Given the description of an element on the screen output the (x, y) to click on. 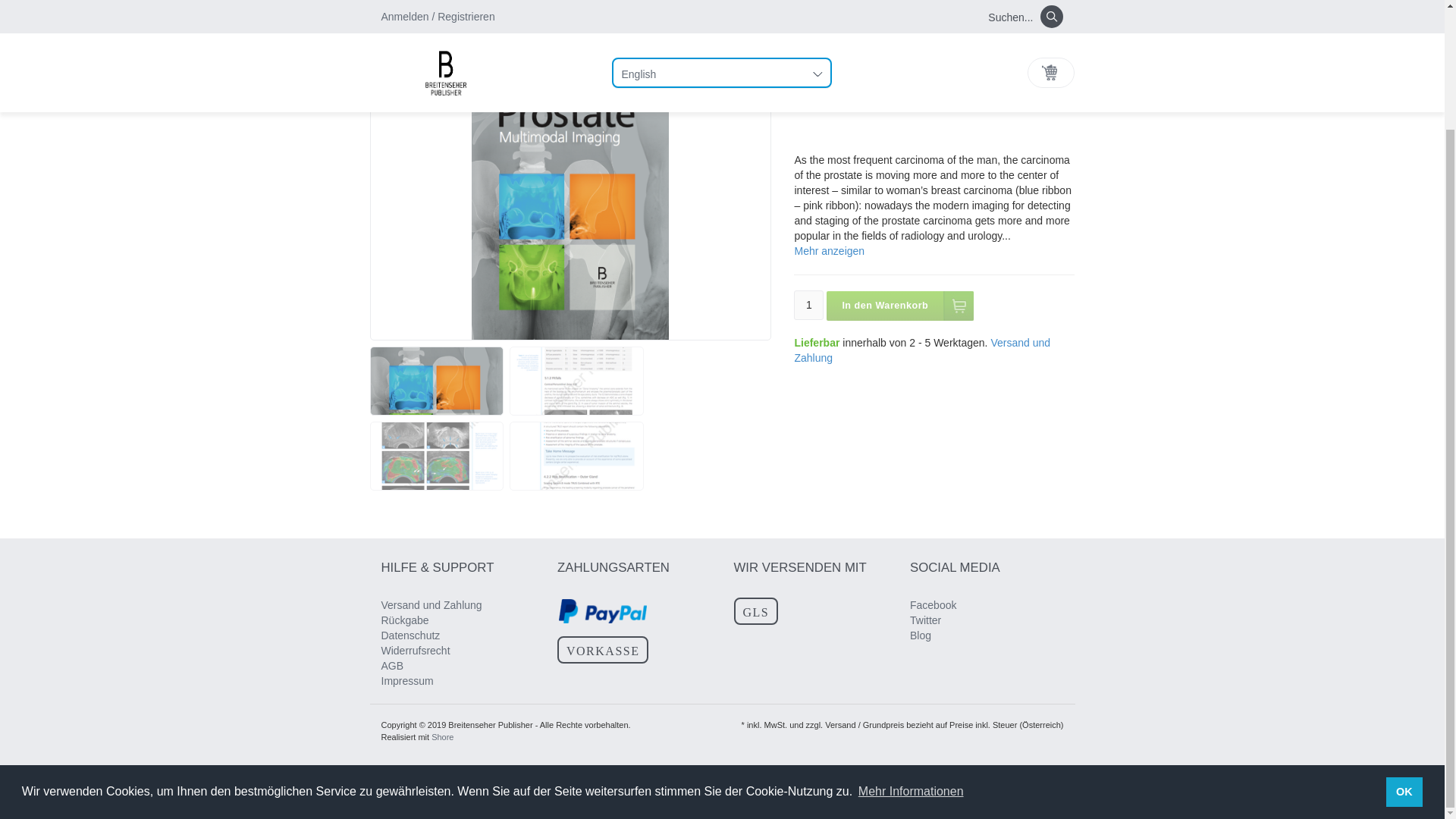
Datenschutz (409, 635)
Blog (920, 635)
Mehr anzeigen (828, 250)
OK (1404, 648)
Impressum (406, 680)
Facebook (933, 604)
Mehr Informationen (911, 649)
Twitter (925, 620)
Versand und Zahlung (430, 604)
In den Warenkorb (900, 306)
1 (808, 304)
AGB (391, 665)
Widerrufsrecht (414, 650)
Shore (441, 737)
Versand und Zahlung (921, 349)
